Given the description of an element on the screen output the (x, y) to click on. 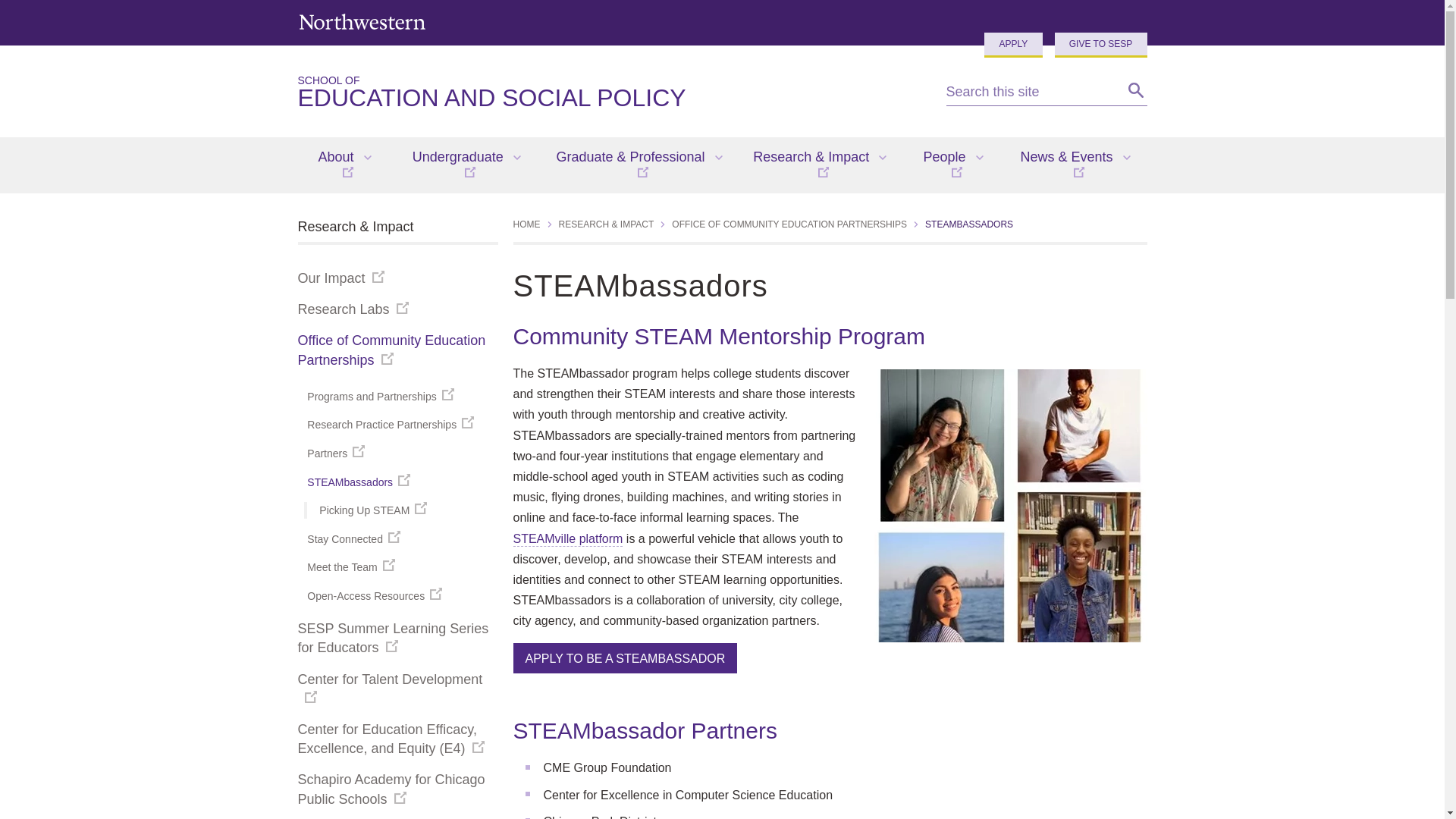
School of Education and Social Policy Home (609, 93)
Northwestern University Home (609, 93)
GIVE TO SESP (361, 21)
APPLY (1100, 44)
